Given the description of an element on the screen output the (x, y) to click on. 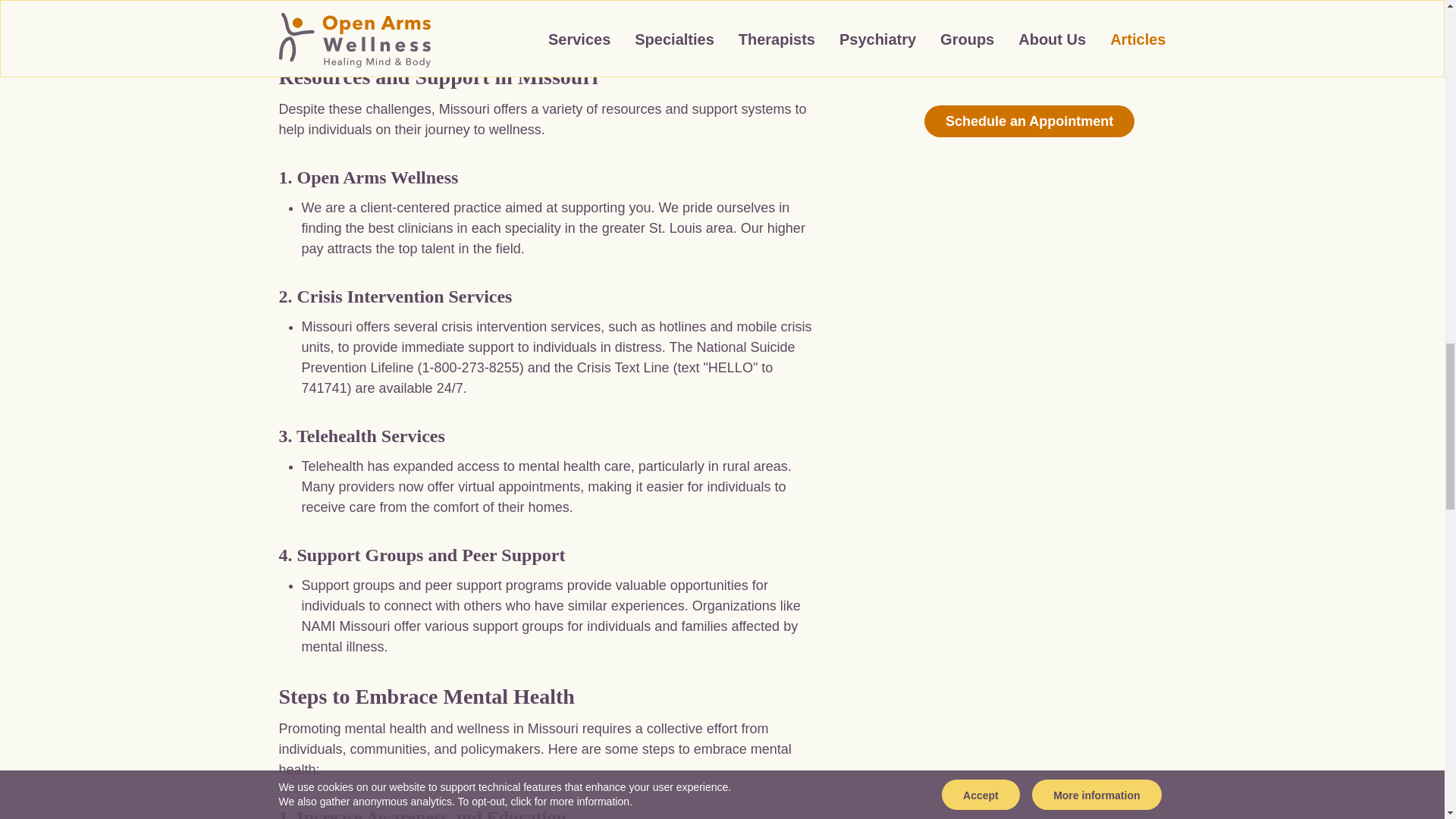
Schedule an Appointment (1029, 121)
